Given the description of an element on the screen output the (x, y) to click on. 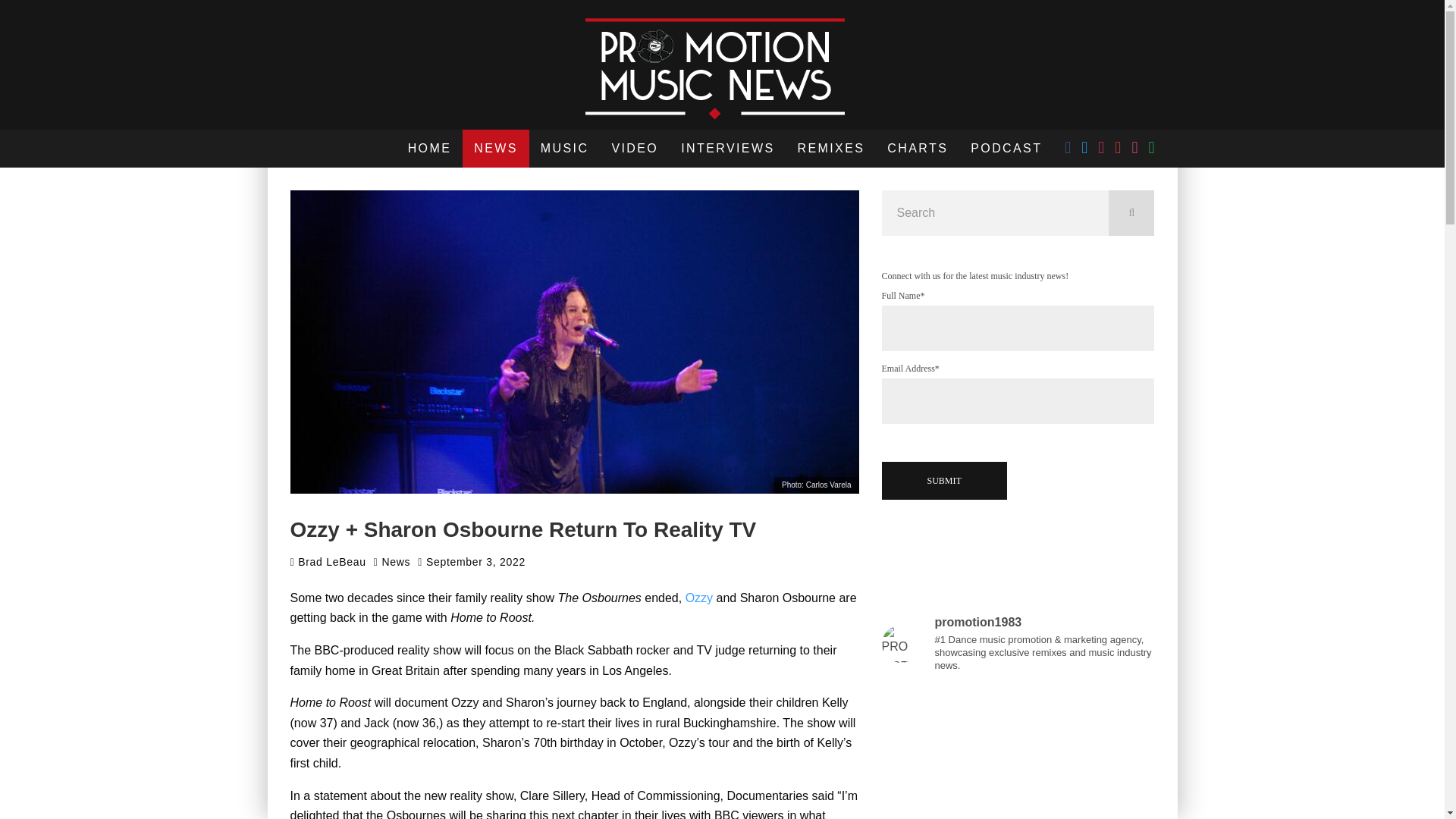
NEWS (496, 148)
News (395, 561)
REMIXES (831, 148)
Brad LeBeau (327, 562)
SUBMIT (943, 480)
MUSIC (564, 148)
VIDEO (634, 148)
Ozzy (699, 597)
CHARTS (917, 148)
PODCAST (1005, 148)
